Given the description of an element on the screen output the (x, y) to click on. 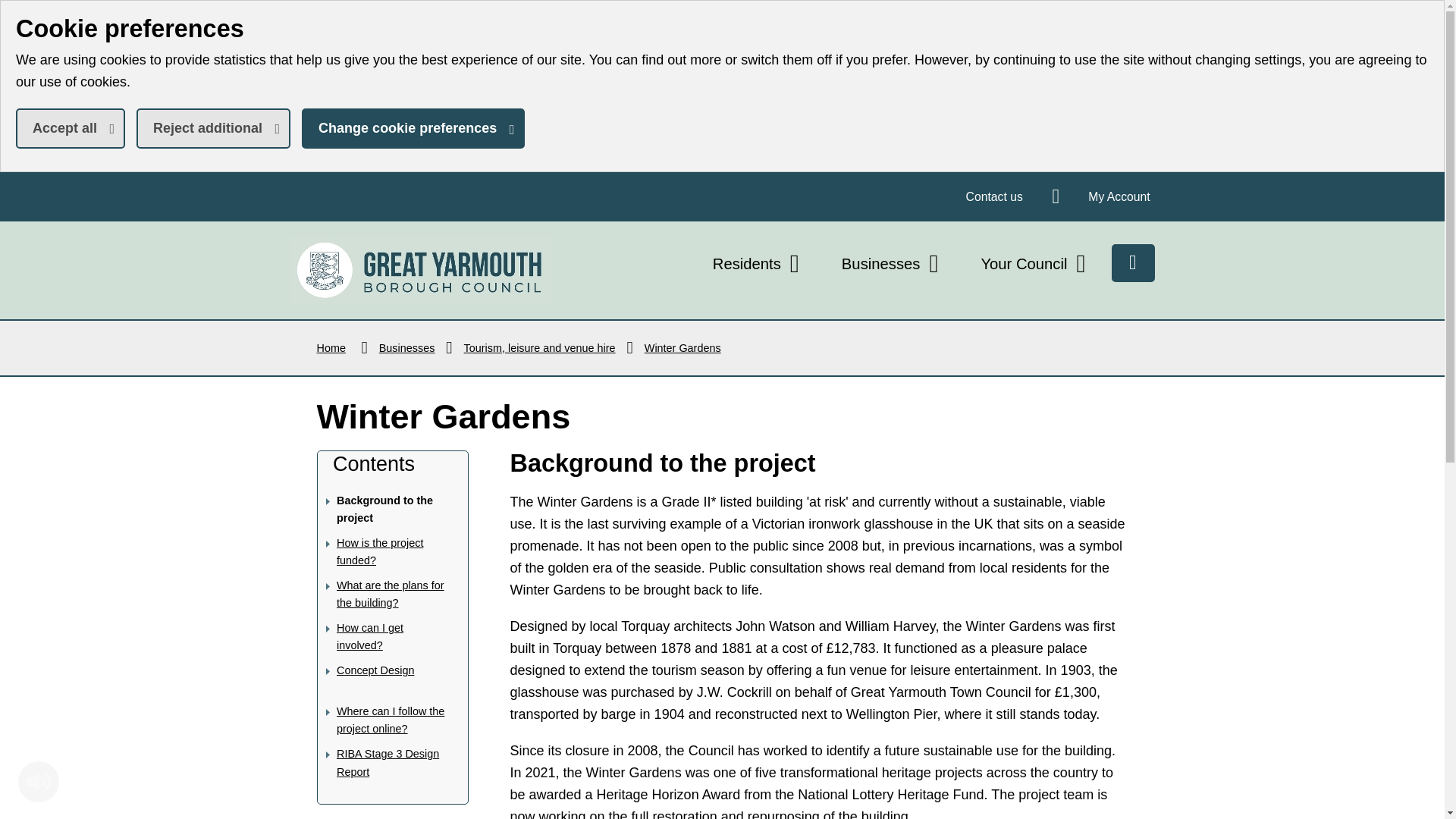
Accept all (70, 128)
Change cookie preferences (420, 270)
Residents (412, 128)
Listen with the ReachDeck Toolbar (757, 263)
Reject additional (38, 781)
Contact us (212, 128)
My Account (994, 196)
Skip to main content (1119, 196)
